Given the description of an element on the screen output the (x, y) to click on. 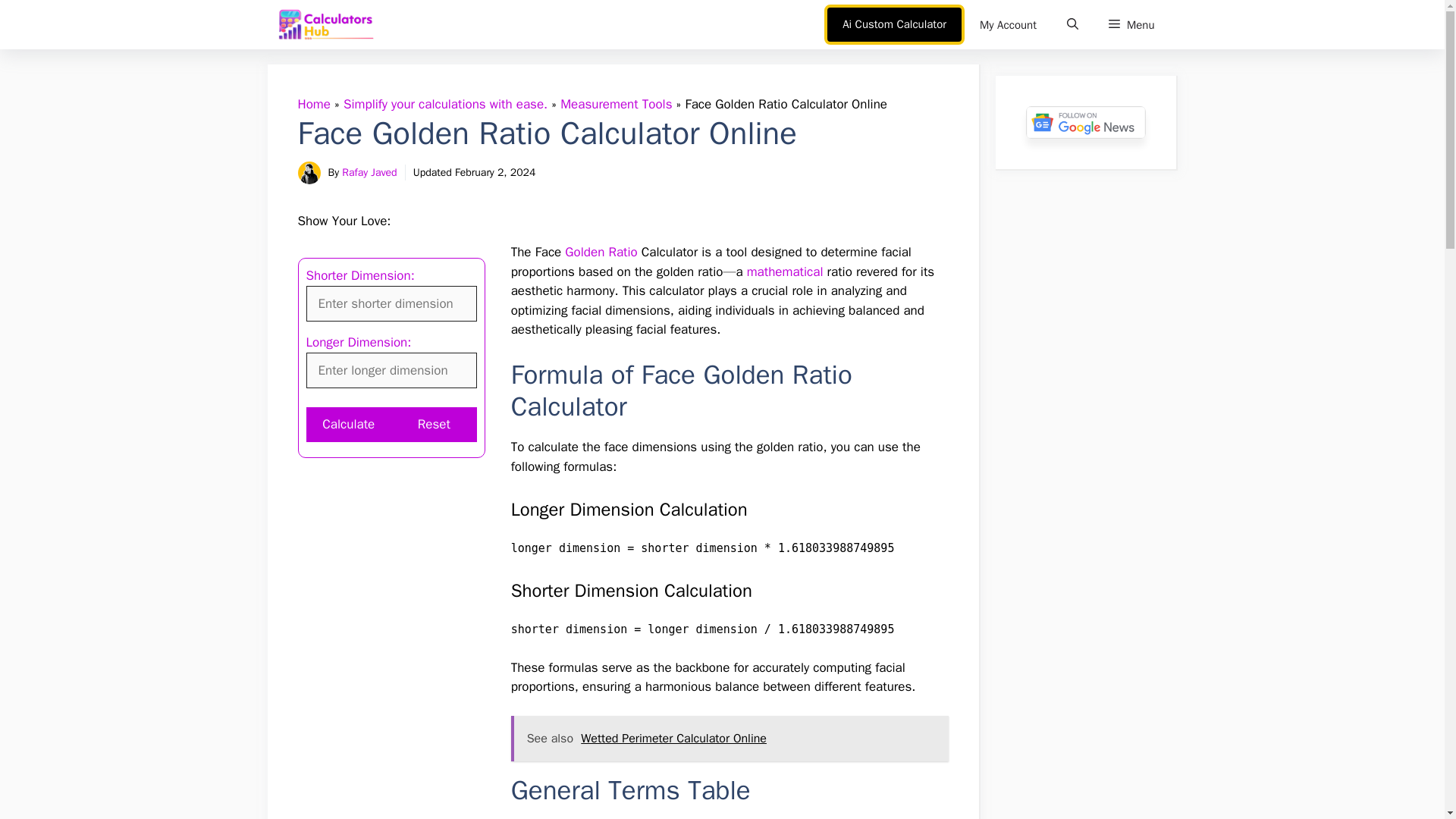
mathematical (785, 271)
Rafay Javed (369, 172)
Measurement Tools (615, 104)
My Account (1007, 23)
Reset (434, 424)
Home (313, 104)
Calculate (348, 424)
Ai Custom Calculator (893, 24)
CalculatorsHub (326, 24)
Menu (1131, 23)
See also  Wetted Perimeter Calculator Online (730, 738)
Golden Ratio (600, 252)
Simplify your calculations with ease. (445, 104)
